Given the description of an element on the screen output the (x, y) to click on. 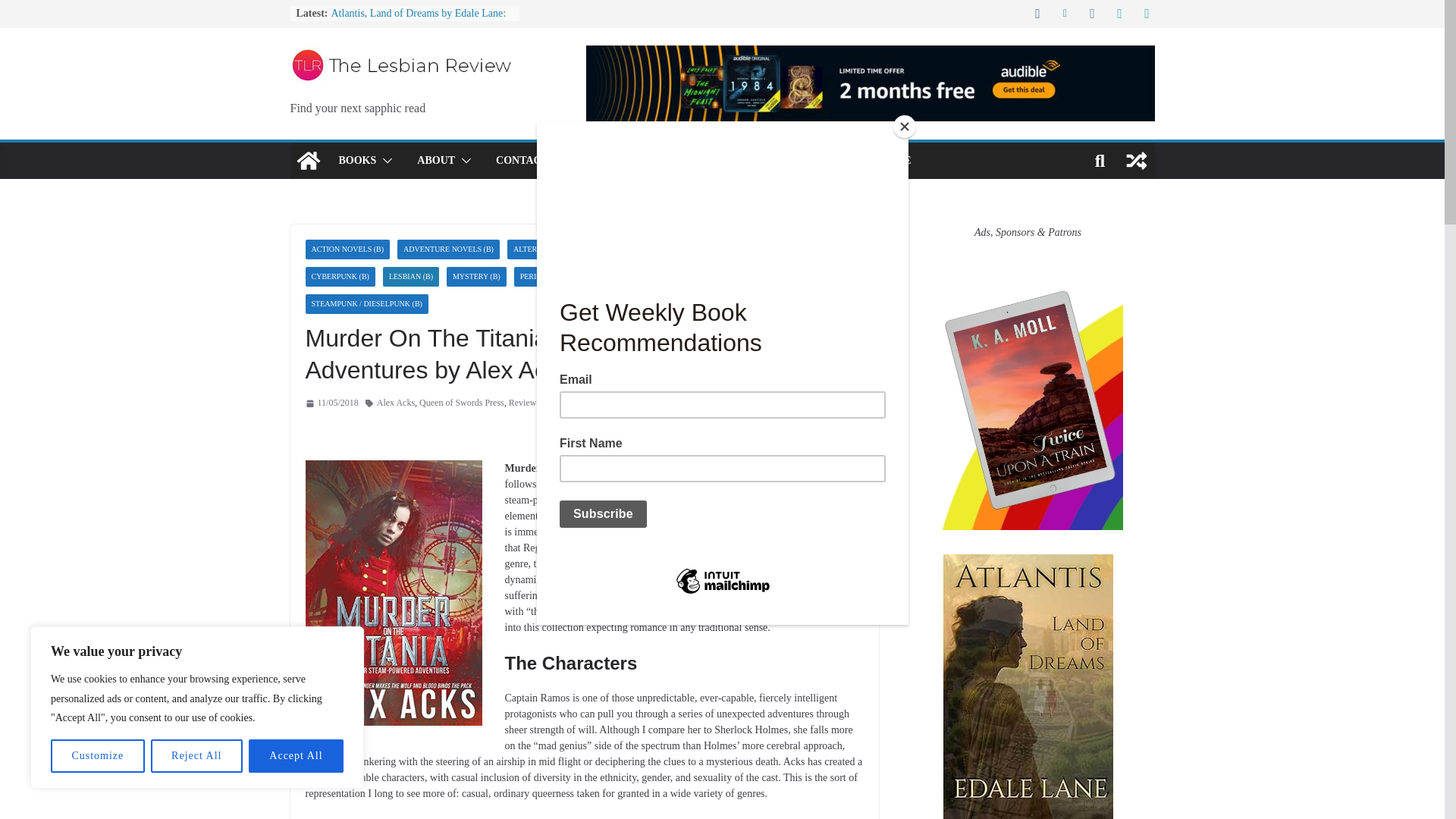
BOOKS (356, 160)
Atlantis, Land of Dreams by Edale Lane: Listing (417, 20)
12:00 am (331, 402)
The Lesbian Review (307, 160)
Accept All (295, 756)
Atlantis, Land of Dreams by Edale Lane: Listing (417, 20)
Reject All (197, 756)
Customize (97, 756)
View a random post (1136, 160)
